Given the description of an element on the screen output the (x, y) to click on. 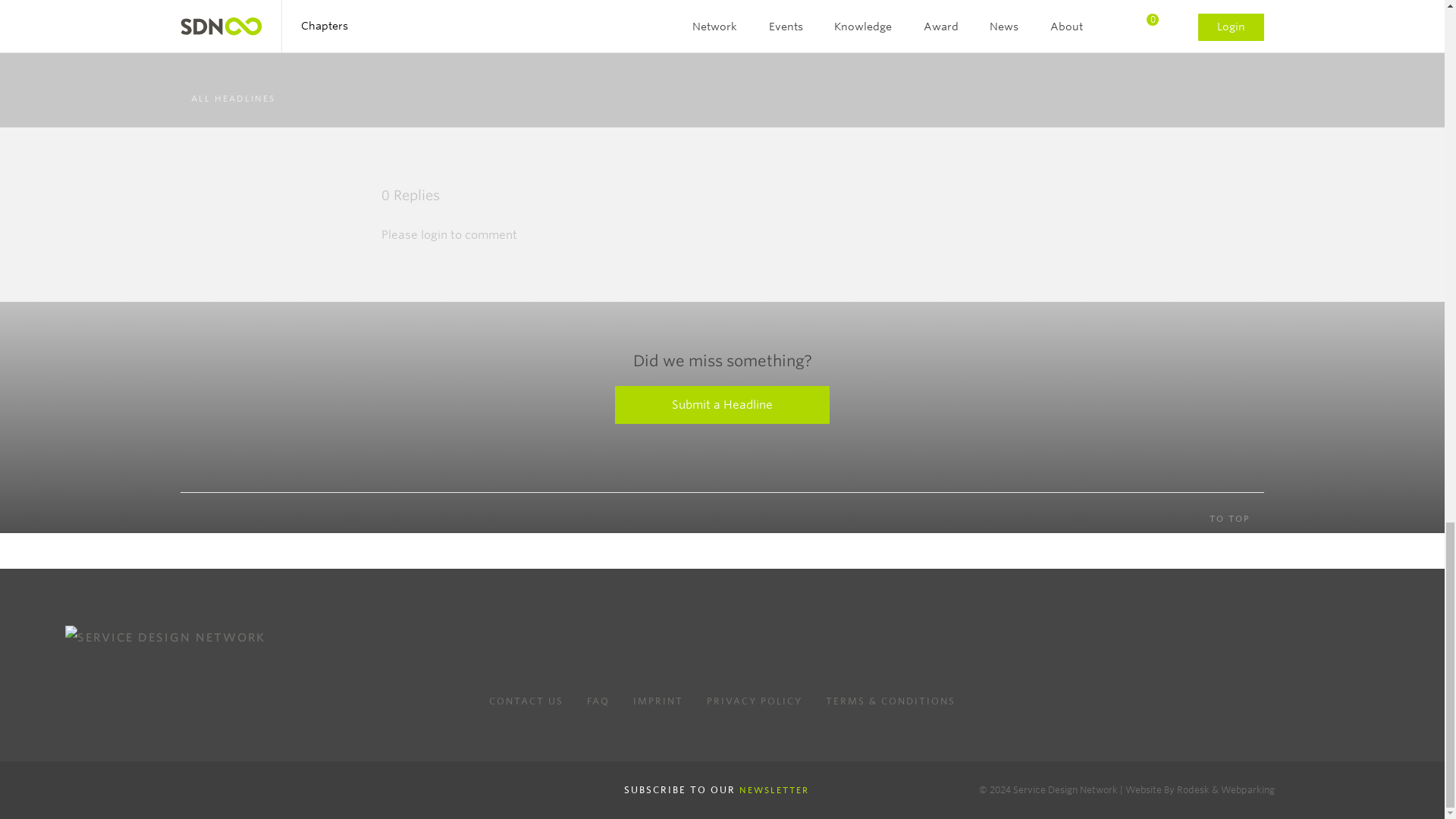
Imprint (657, 701)
FAQ (598, 701)
Contact us (526, 701)
Privacy Policy (754, 701)
